Given the description of an element on the screen output the (x, y) to click on. 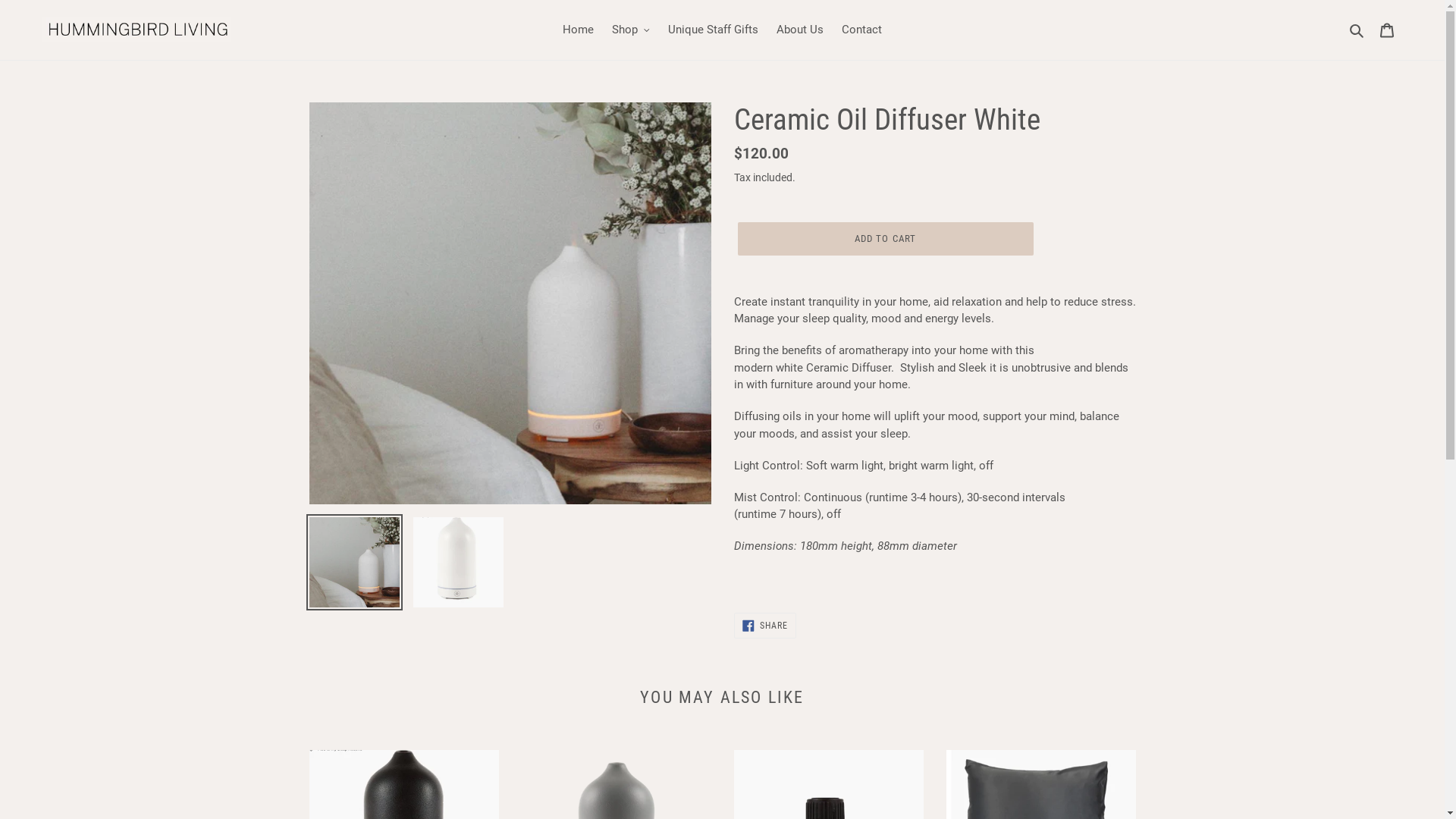
Cart Element type: text (1386, 29)
About Us Element type: text (799, 29)
Shop Element type: text (630, 29)
Contact Element type: text (861, 29)
SHARE
SHARE ON FACEBOOK Element type: text (765, 625)
Search Element type: text (1357, 29)
ADD TO CART Element type: text (884, 238)
Home Element type: text (578, 29)
Unique Staff Gifts Element type: text (712, 29)
